Given the description of an element on the screen output the (x, y) to click on. 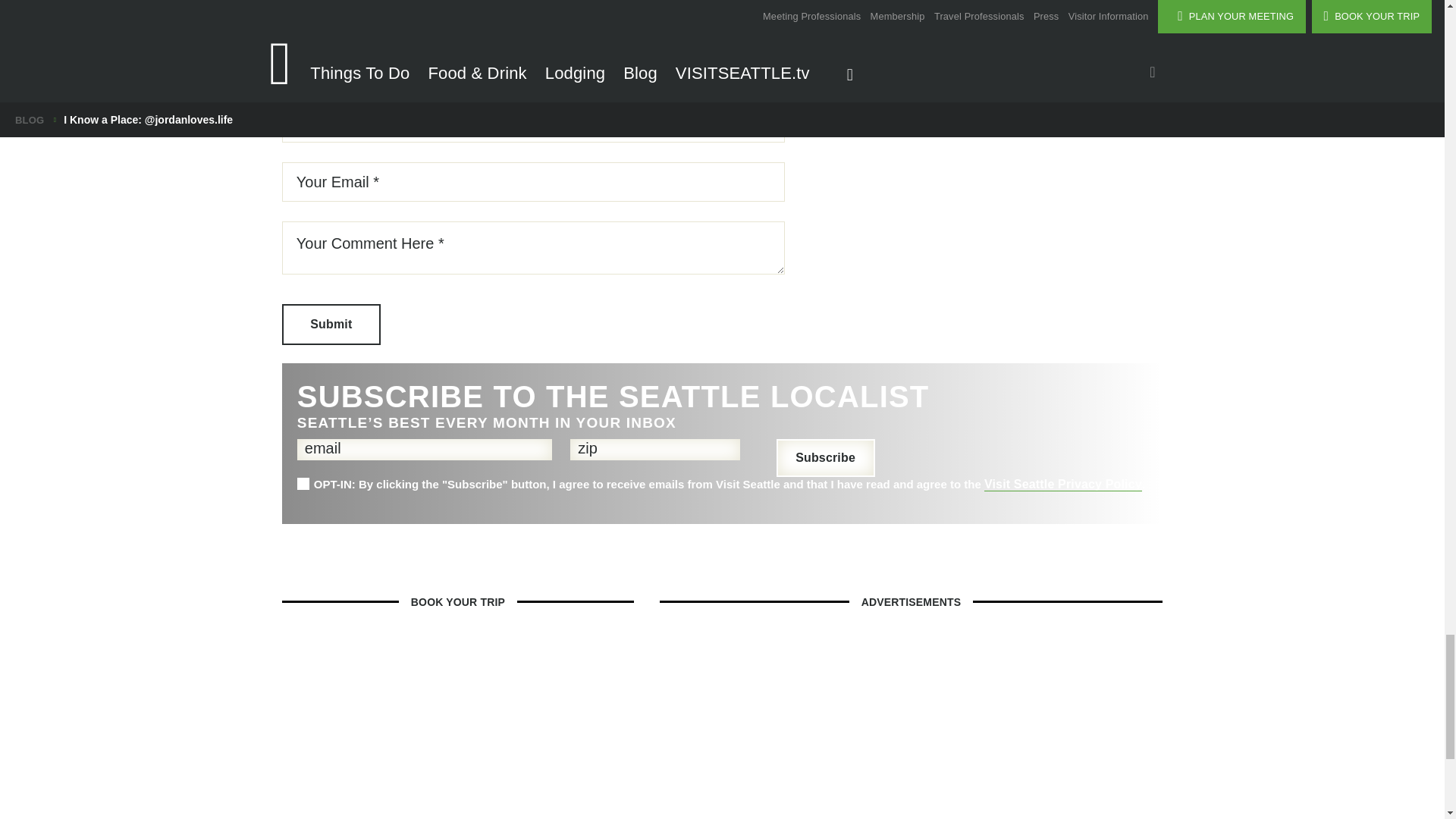
Submit (331, 323)
Subscribe (825, 457)
Our Privacy Policy (1062, 484)
